Given the description of an element on the screen output the (x, y) to click on. 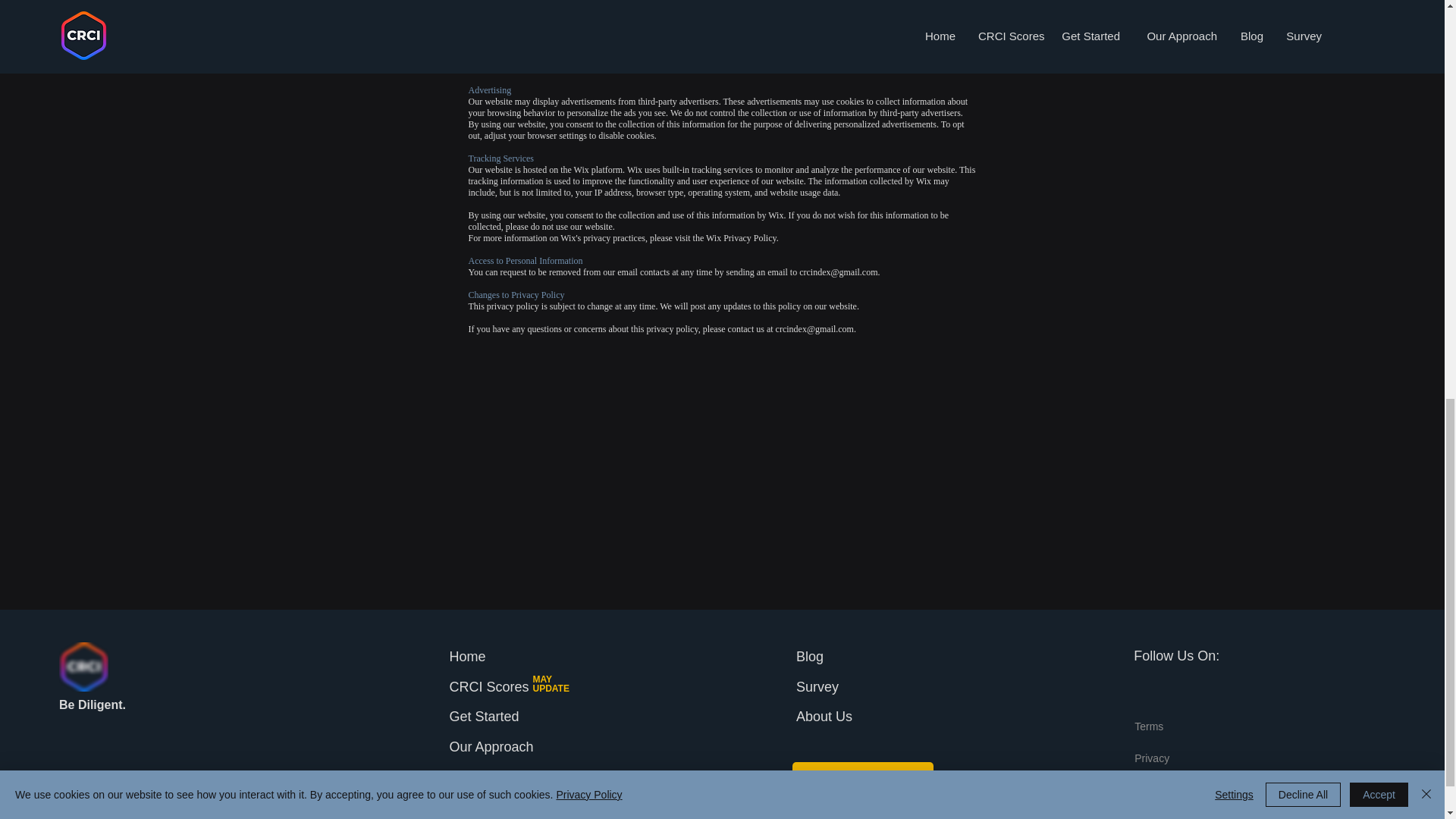
Get Started (483, 716)
Privacy (1151, 758)
Pledge of Excellence (512, 776)
Be Diligent. (92, 704)
Home (466, 656)
CRCI Scores (488, 686)
About Us (823, 716)
Our Approach (490, 746)
CRCI-icon-New-Clean-1.png (83, 666)
Blog (810, 656)
Terms (1148, 726)
General Inquiries (862, 776)
Survey (817, 686)
